Given the description of an element on the screen output the (x, y) to click on. 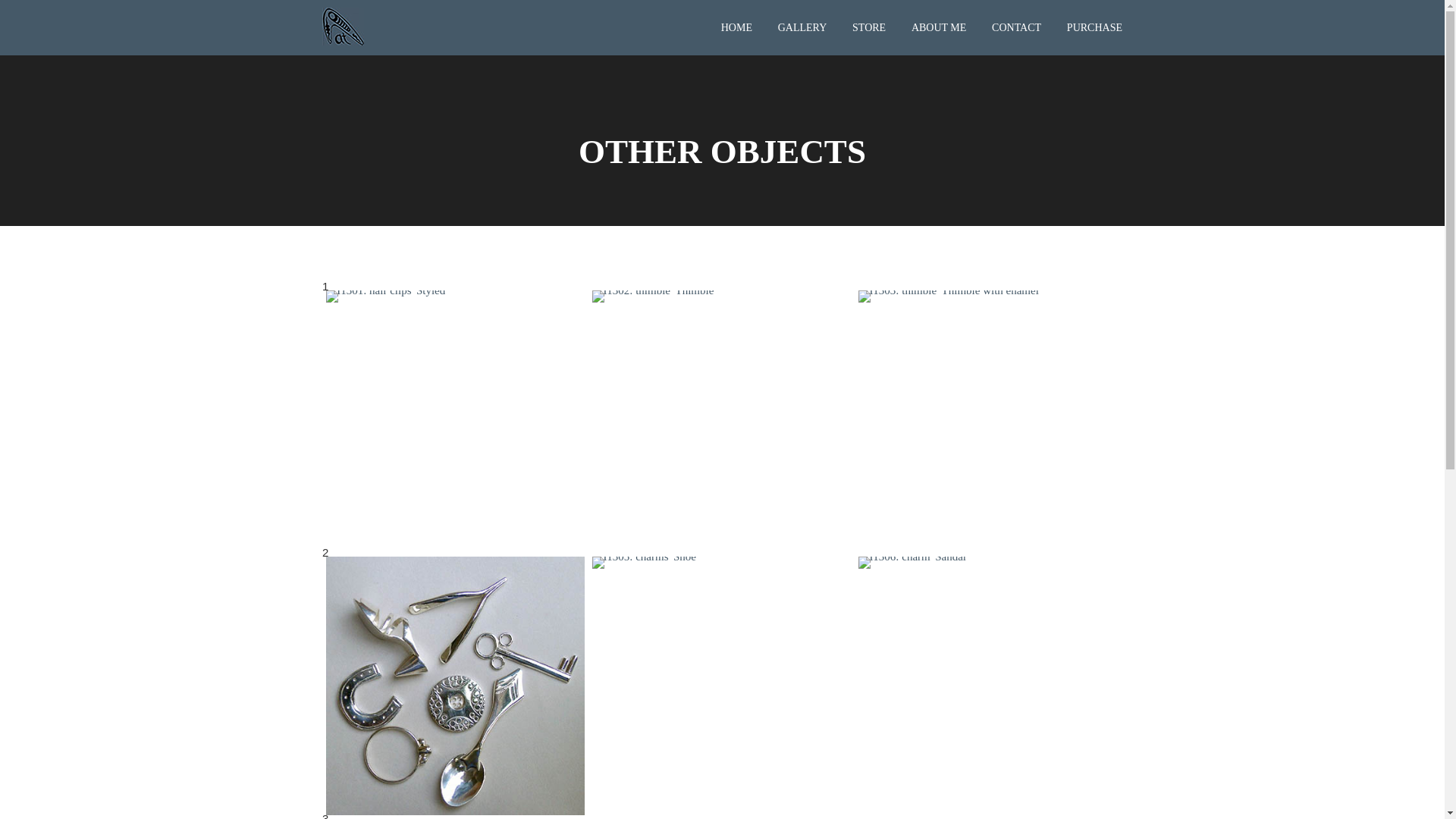
HOME Element type: text (736, 27)
ABOUT ME Element type: text (938, 27)
PURCHASE Element type: text (1088, 27)
CONTACT Element type: text (1016, 27)
STORE Element type: text (868, 27)
GALLERY Element type: text (802, 27)
